Given the description of an element on the screen output the (x, y) to click on. 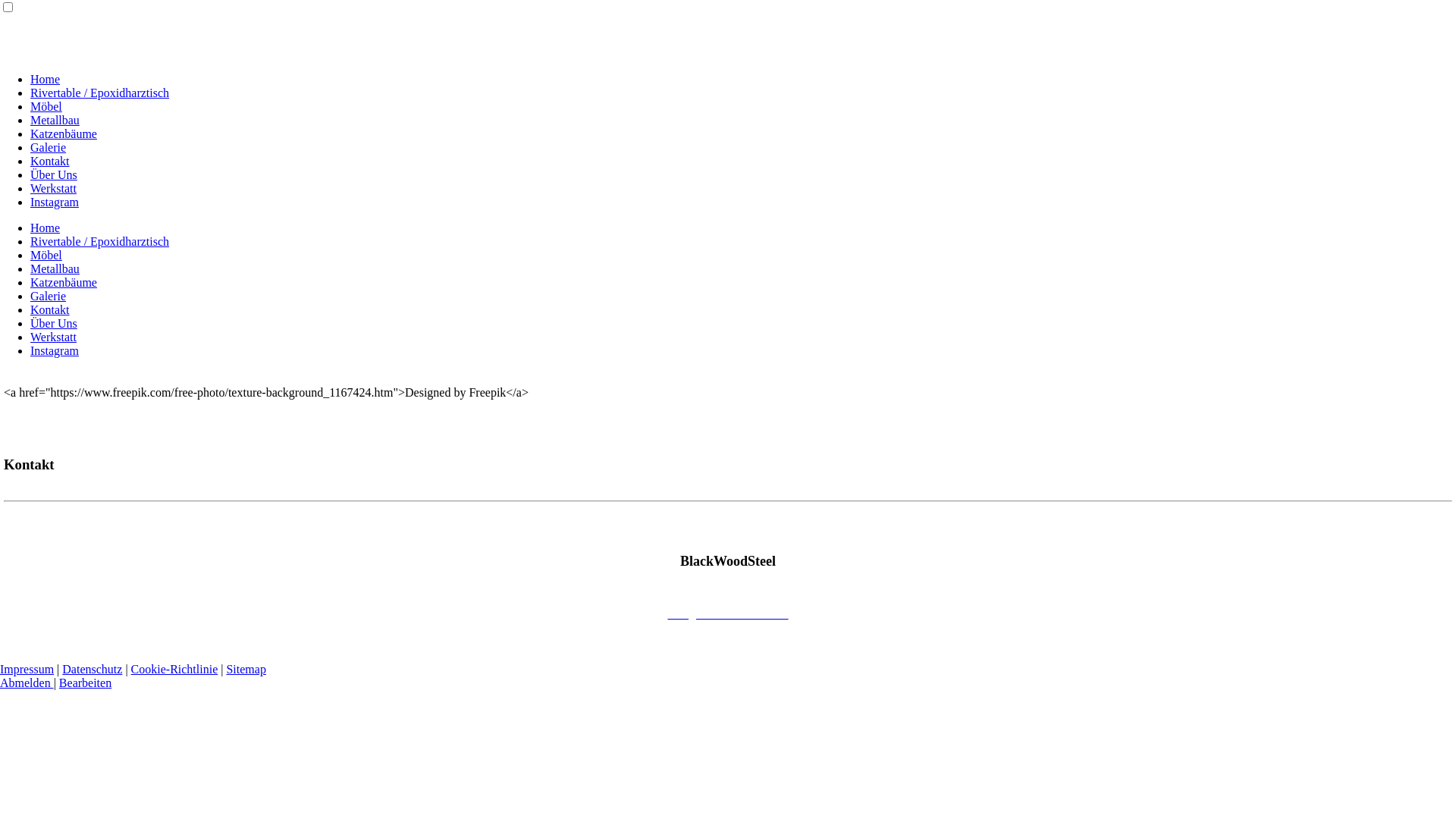
Galerie Element type: text (47, 295)
Home Element type: text (44, 78)
info@blackwoodsteel.ch Element type: text (727, 613)
Datenschutz Element type: text (92, 668)
Rivertable / Epoxidharztisch Element type: text (99, 92)
Home Element type: text (44, 227)
Metallbau Element type: text (54, 119)
Metallbau Element type: text (54, 268)
Impressum Element type: text (26, 668)
Werkstatt Element type: text (53, 188)
Rivertable / Epoxidharztisch Element type: text (99, 241)
Sitemap Element type: text (245, 668)
Werkstatt Element type: text (53, 336)
Bearbeiten Element type: text (85, 682)
Instagram Element type: text (54, 201)
Kontakt Element type: text (49, 160)
Abmelden Element type: text (26, 682)
Galerie Element type: text (47, 147)
Kontakt Element type: text (49, 309)
Cookie-Richtlinie Element type: text (174, 668)
Instagram Element type: text (54, 350)
